Given the description of an element on the screen output the (x, y) to click on. 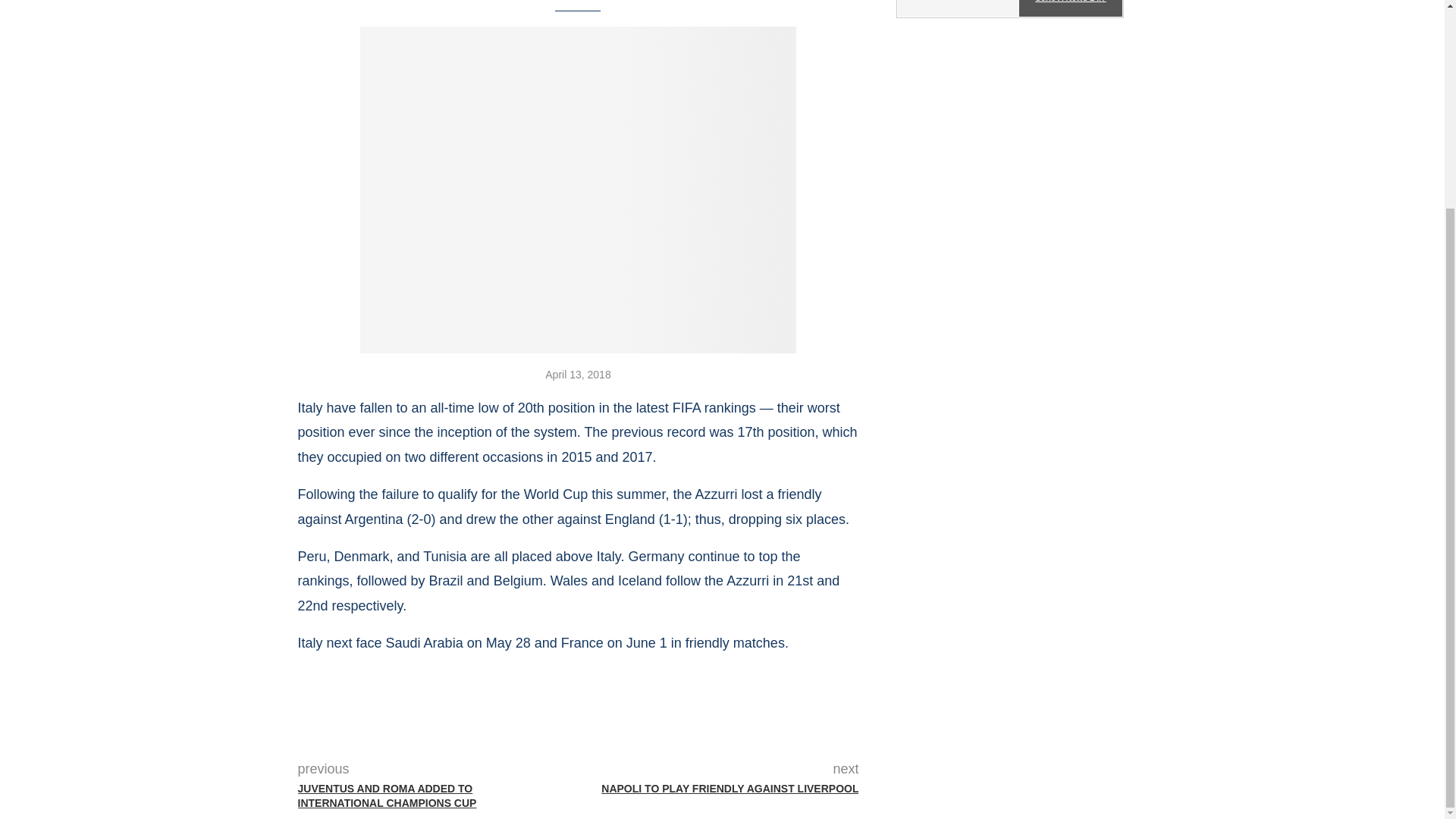
Click here for more Italian football news from NewsNow (1010, 9)
